Given the description of an element on the screen output the (x, y) to click on. 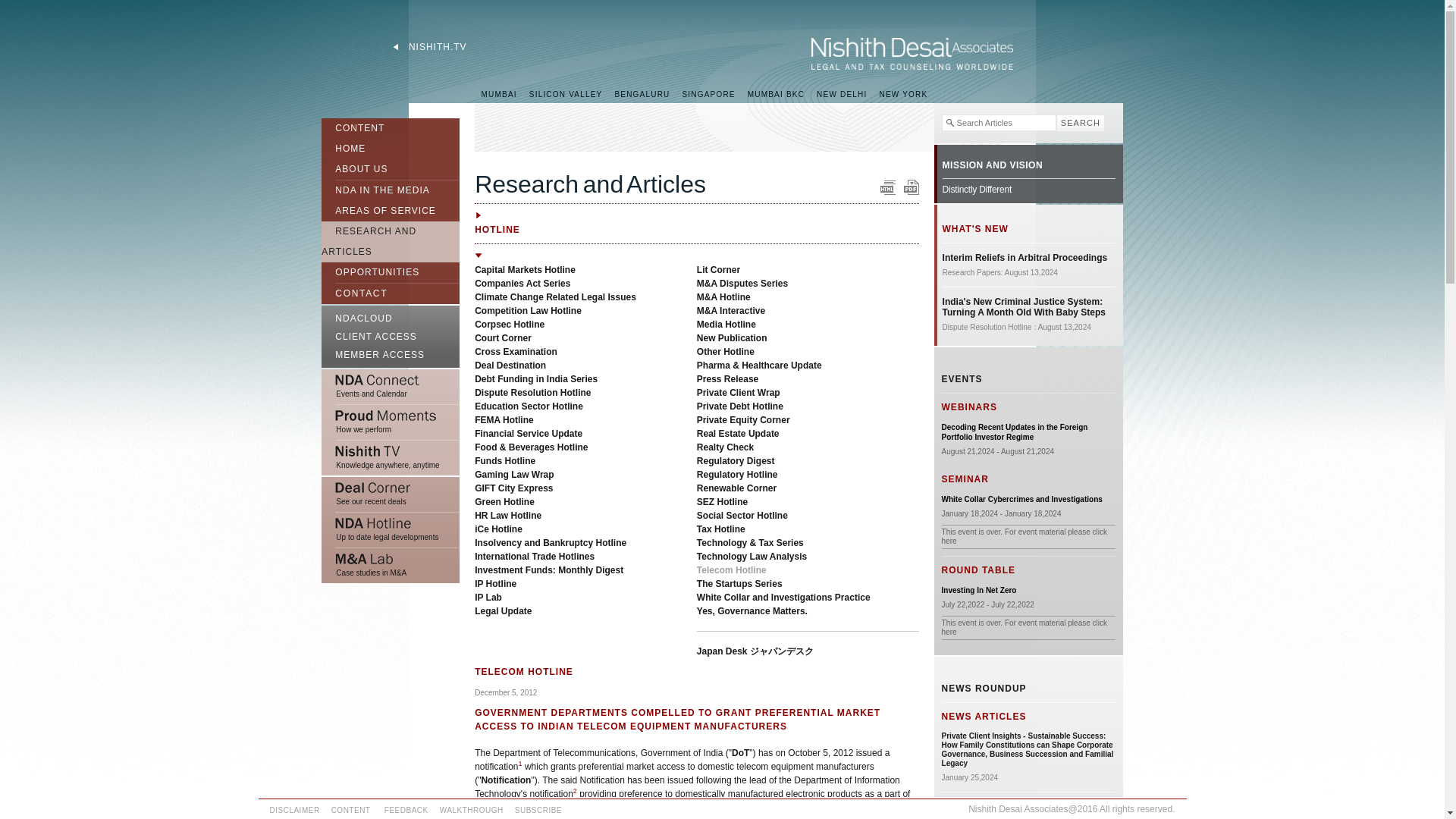
Conference (1022, 499)
MEMBER ACCESS (390, 356)
ABOUT US (354, 170)
NEW DELHI (841, 94)
BENGALURU (641, 94)
Round Table (979, 590)
NEW YORK (902, 94)
CONTACT (354, 293)
   NISHITH.TV (429, 46)
